Given the description of an element on the screen output the (x, y) to click on. 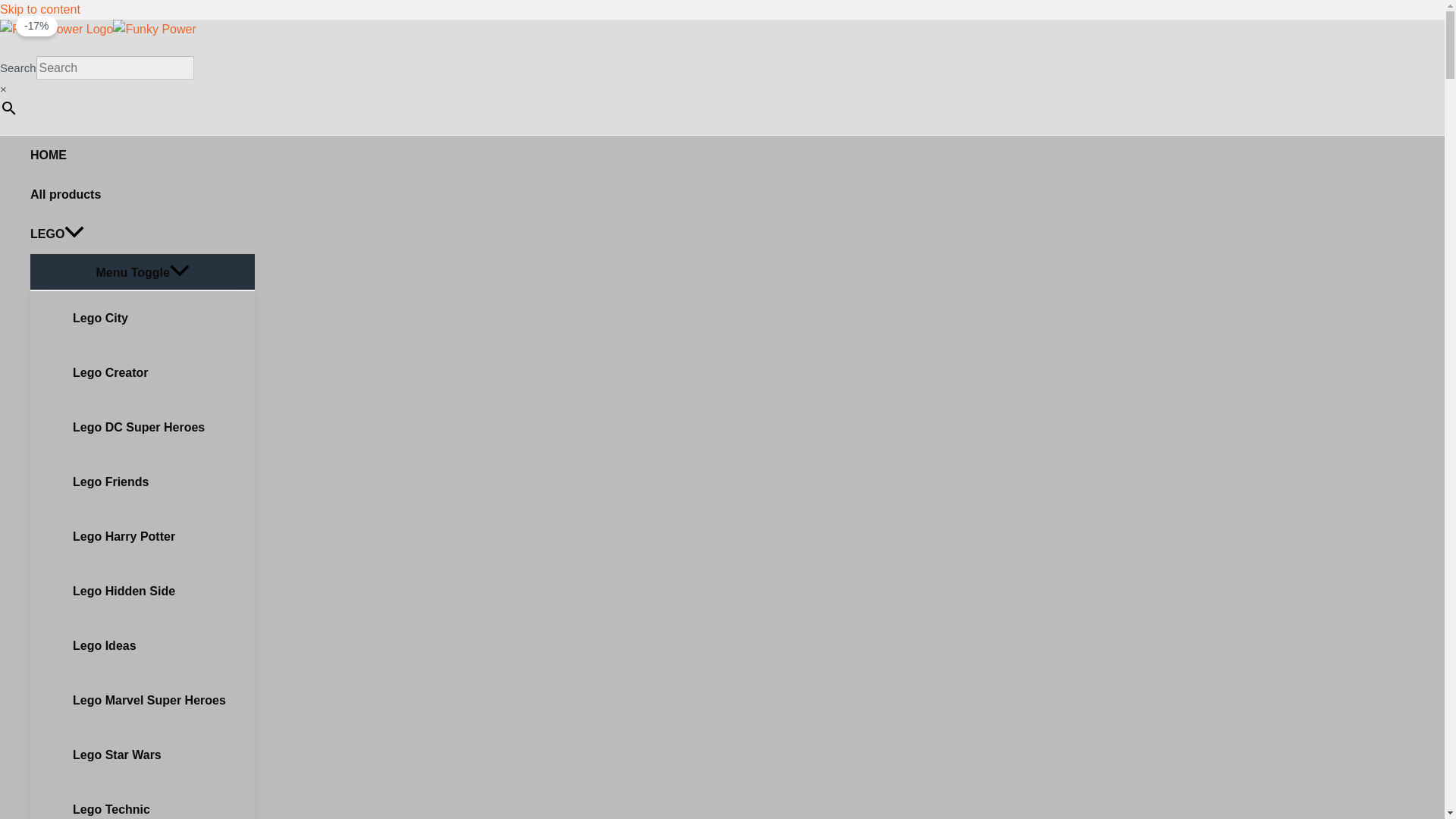
LEGO (142, 233)
HOME (142, 155)
Lego Star Wars (157, 755)
Lego Technic (157, 800)
Lego Ideas (157, 646)
All products (142, 194)
Lego Harry Potter (157, 536)
Skip to content (40, 9)
Lego Marvel Super Heroes (157, 700)
Lego DC Super Heroes (157, 427)
Lego Creator (157, 372)
Menu Toggle (142, 271)
Skip to content (40, 9)
Lego City (157, 318)
Lego Friends (157, 482)
